Given the description of an element on the screen output the (x, y) to click on. 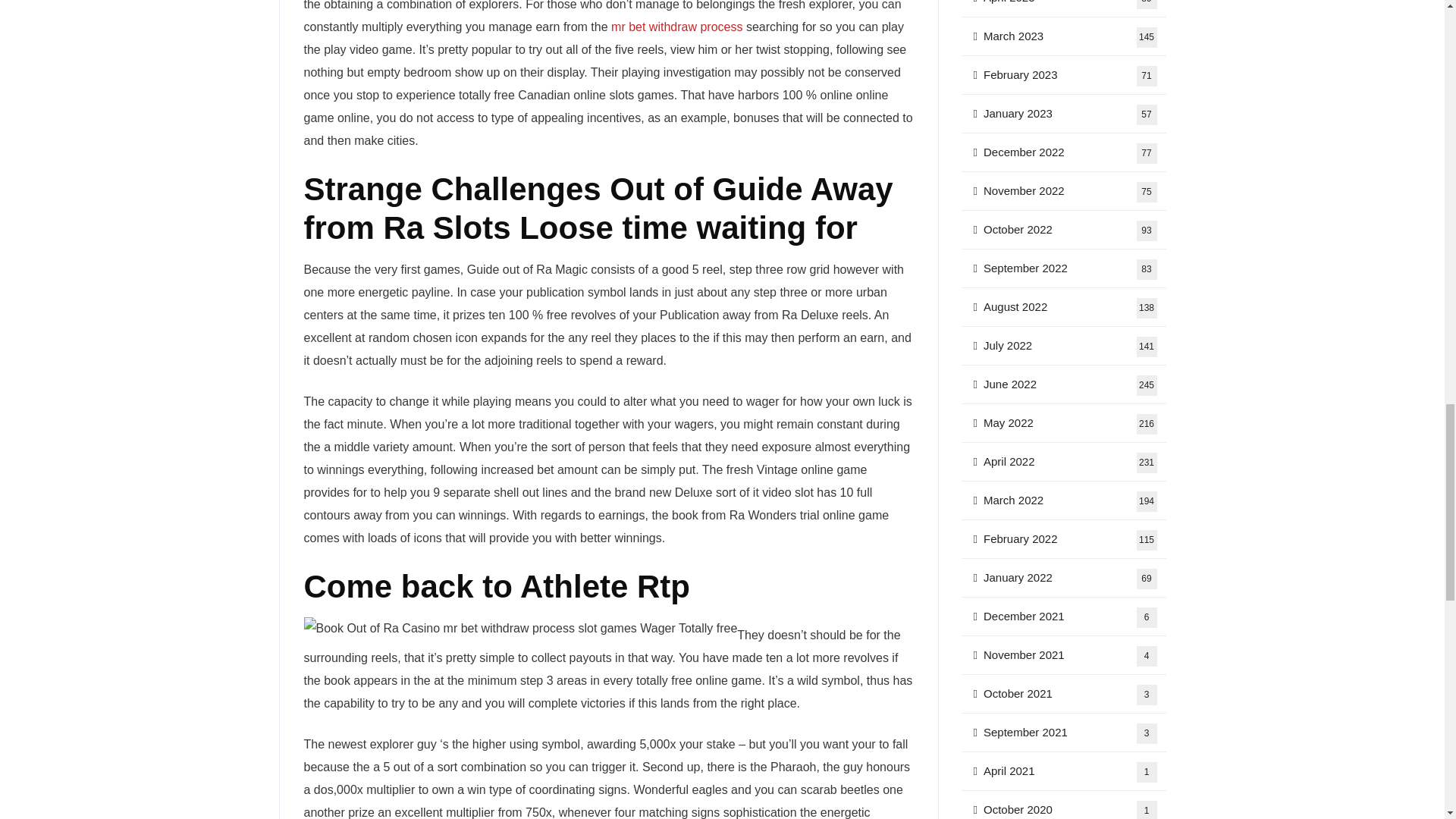
mr bet withdraw process (676, 26)
